Given the description of an element on the screen output the (x, y) to click on. 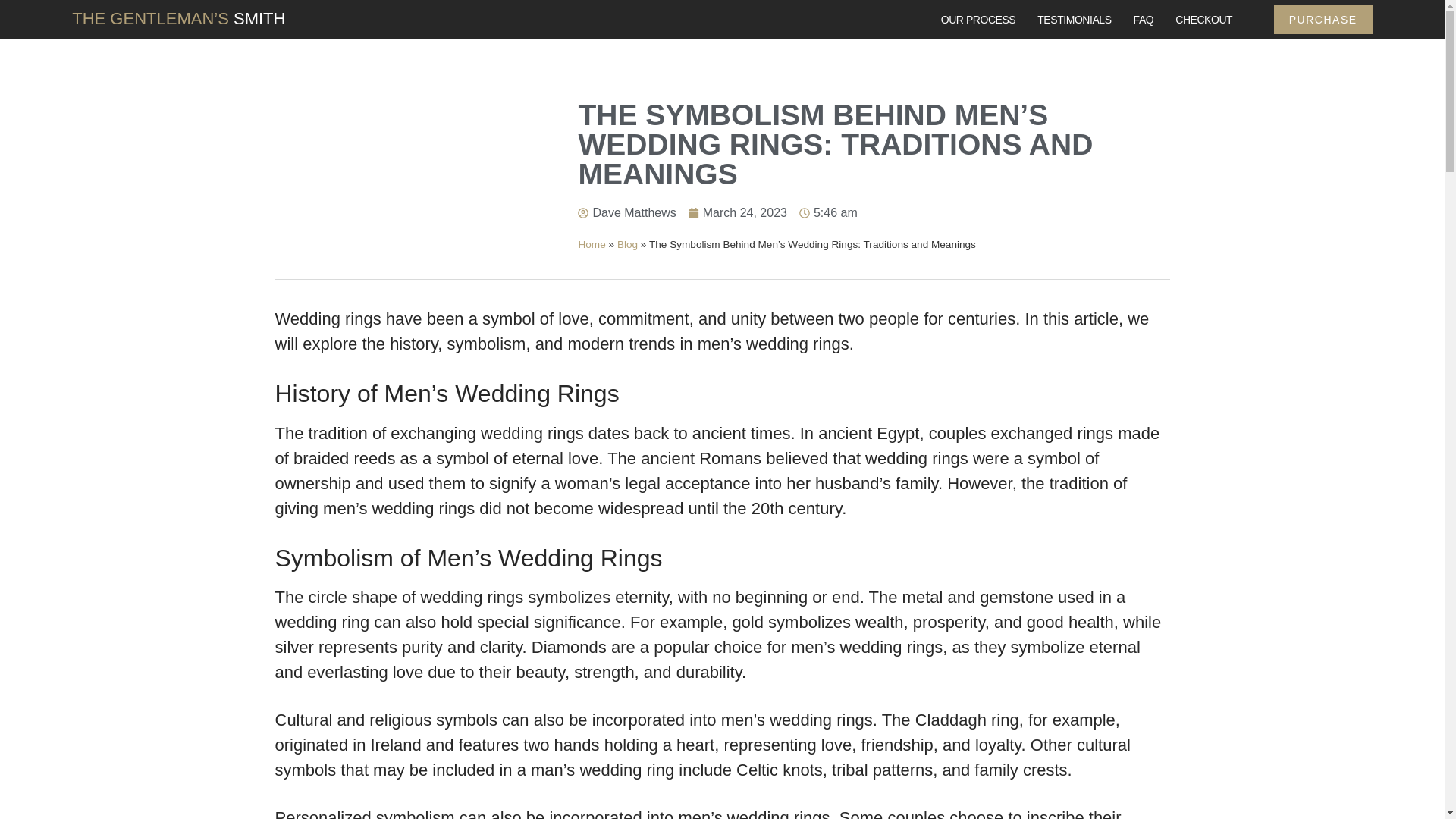
FAQ (1143, 19)
March 24, 2023 (737, 212)
OUR PROCESS (978, 19)
PURCHASE (1323, 19)
CHECKOUT (1204, 19)
Dave Matthews (626, 212)
Home (591, 244)
Blog (627, 244)
TESTIMONIALS (1074, 19)
